Given the description of an element on the screen output the (x, y) to click on. 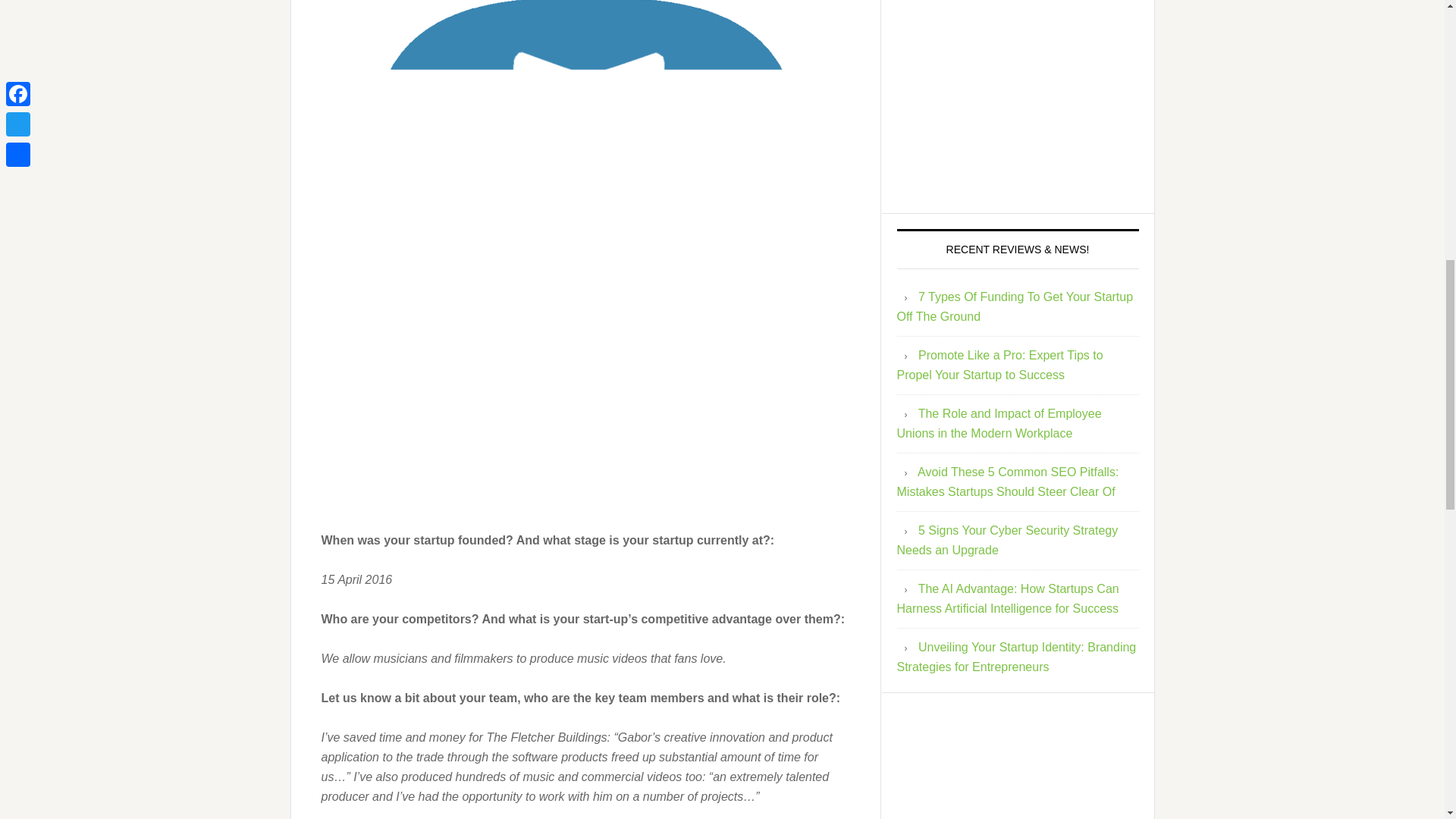
7 Types Of Funding To Get Your Startup Off The Ground (1014, 306)
5 Signs Your Cyber Security Strategy Needs an Upgrade (1007, 540)
